Given the description of an element on the screen output the (x, y) to click on. 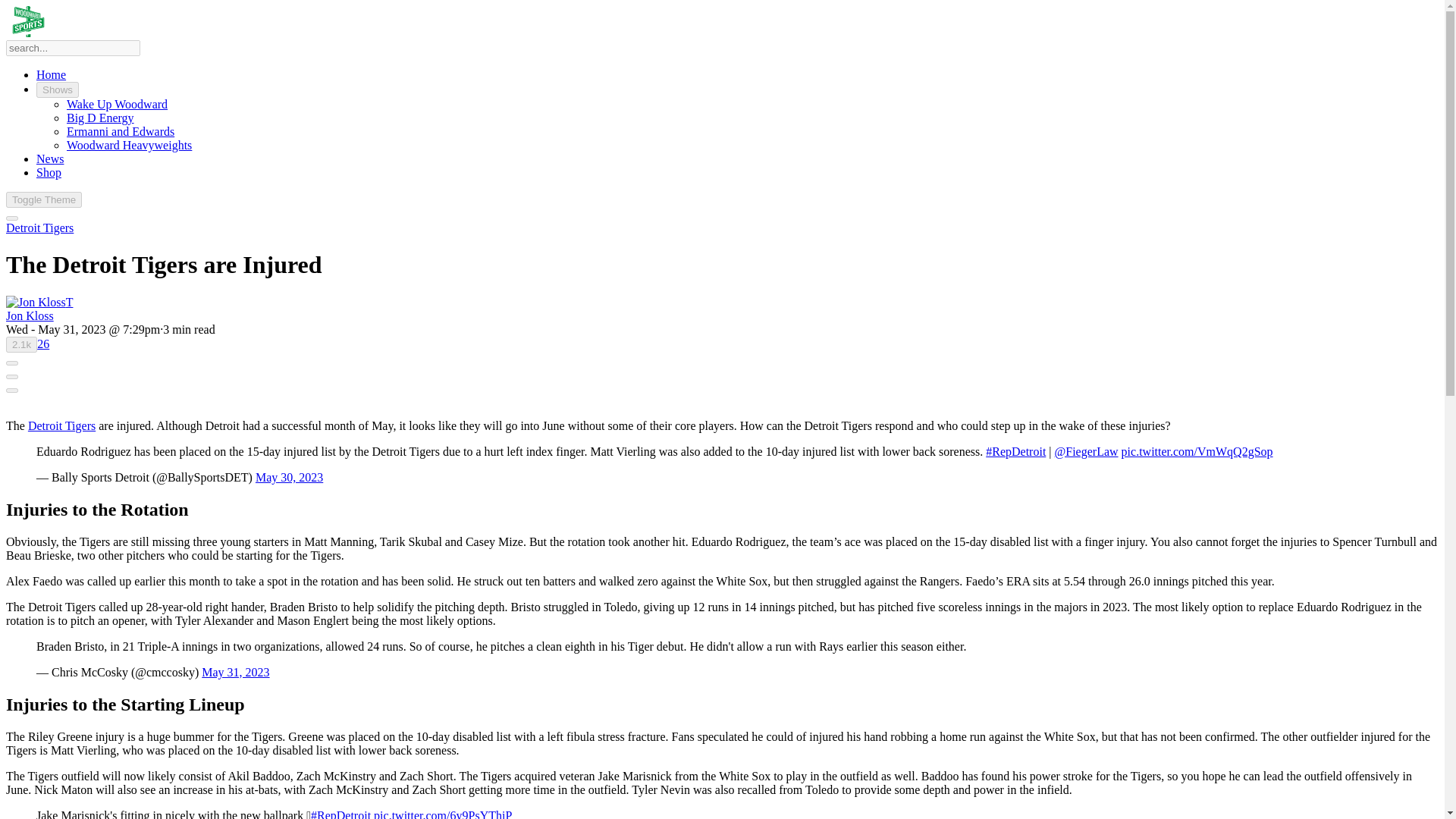
Save to reading list (11, 363)
Wake Up Woodward (116, 103)
Home (50, 74)
Ermanni and Edwards (120, 131)
Jon Kloss (29, 315)
Shop (48, 172)
Shows (57, 89)
Woodward Heavyweights (129, 144)
Comments (43, 343)
More (11, 376)
Liked (21, 344)
More (11, 390)
Detroit Tigers (39, 227)
Toggle Theme (43, 199)
News (50, 158)
